Given the description of an element on the screen output the (x, y) to click on. 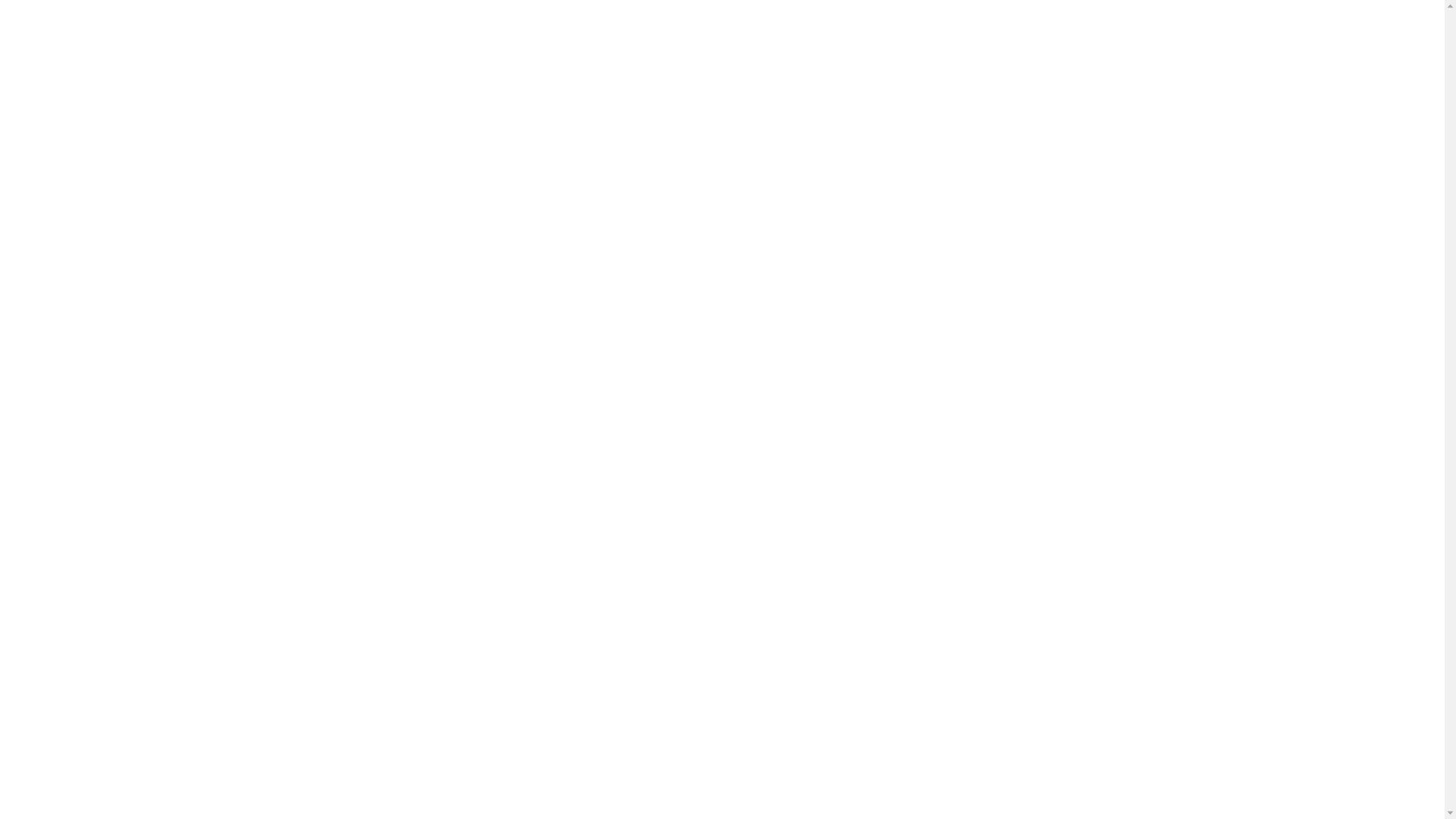
facebook Element type: text (1190, 793)
WORK OPPORTUNITIES Element type: text (906, 174)
CALL US: (02) 6556 0075 Element type: text (721, 13)
FEES Element type: text (618, 174)
HOME Element type: text (427, 174)
NEWS Element type: text (1017, 174)
ABOUT Element type: text (493, 174)
CONTACT Element type: text (785, 174)
facebook Element type: text (261, 12)
RESOURCES Element type: text (695, 174)
TEAM Element type: text (558, 174)
